Given the description of an element on the screen output the (x, y) to click on. 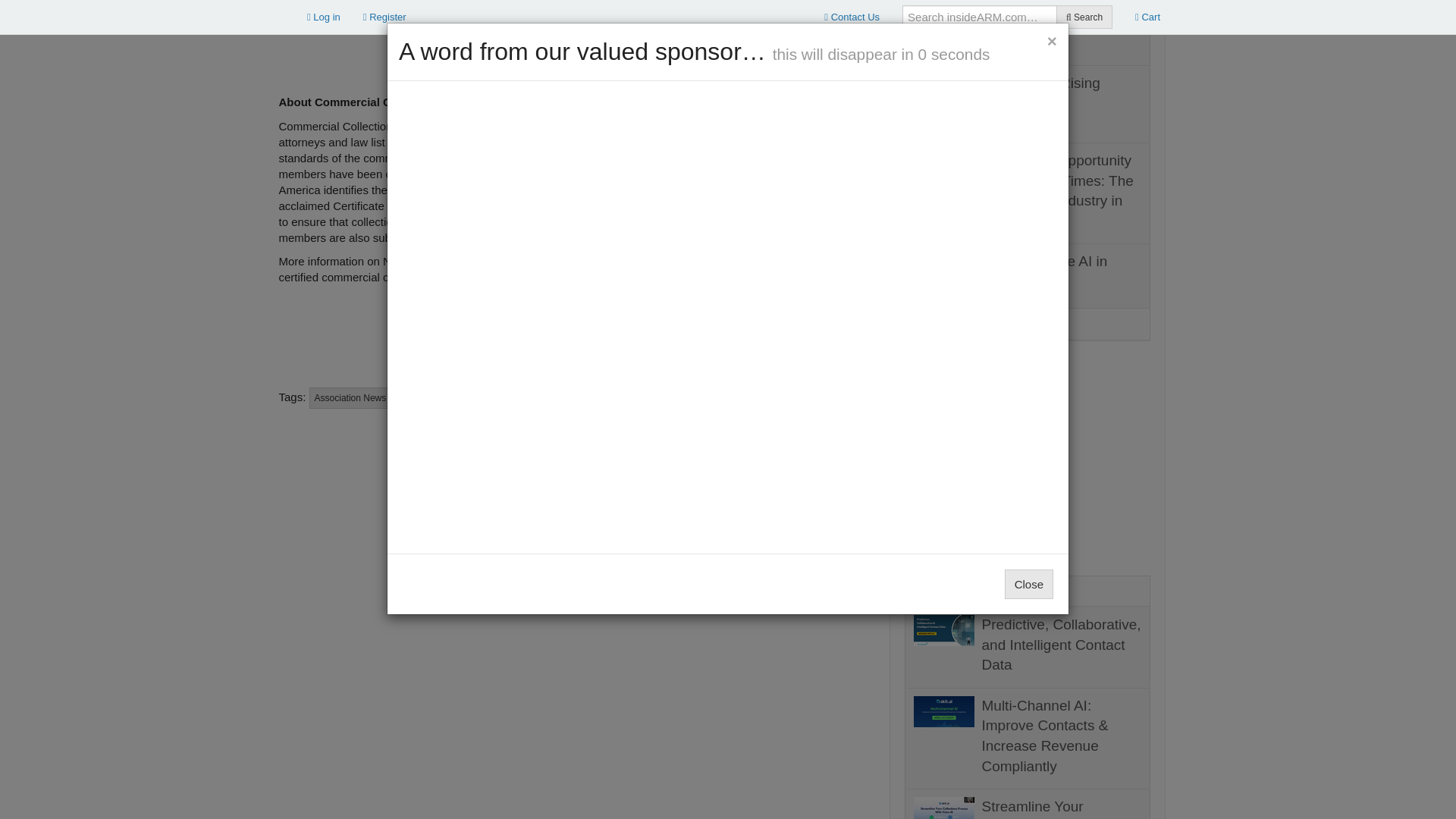
3rd party ad content (279, 27)
